Given the description of an element on the screen output the (x, y) to click on. 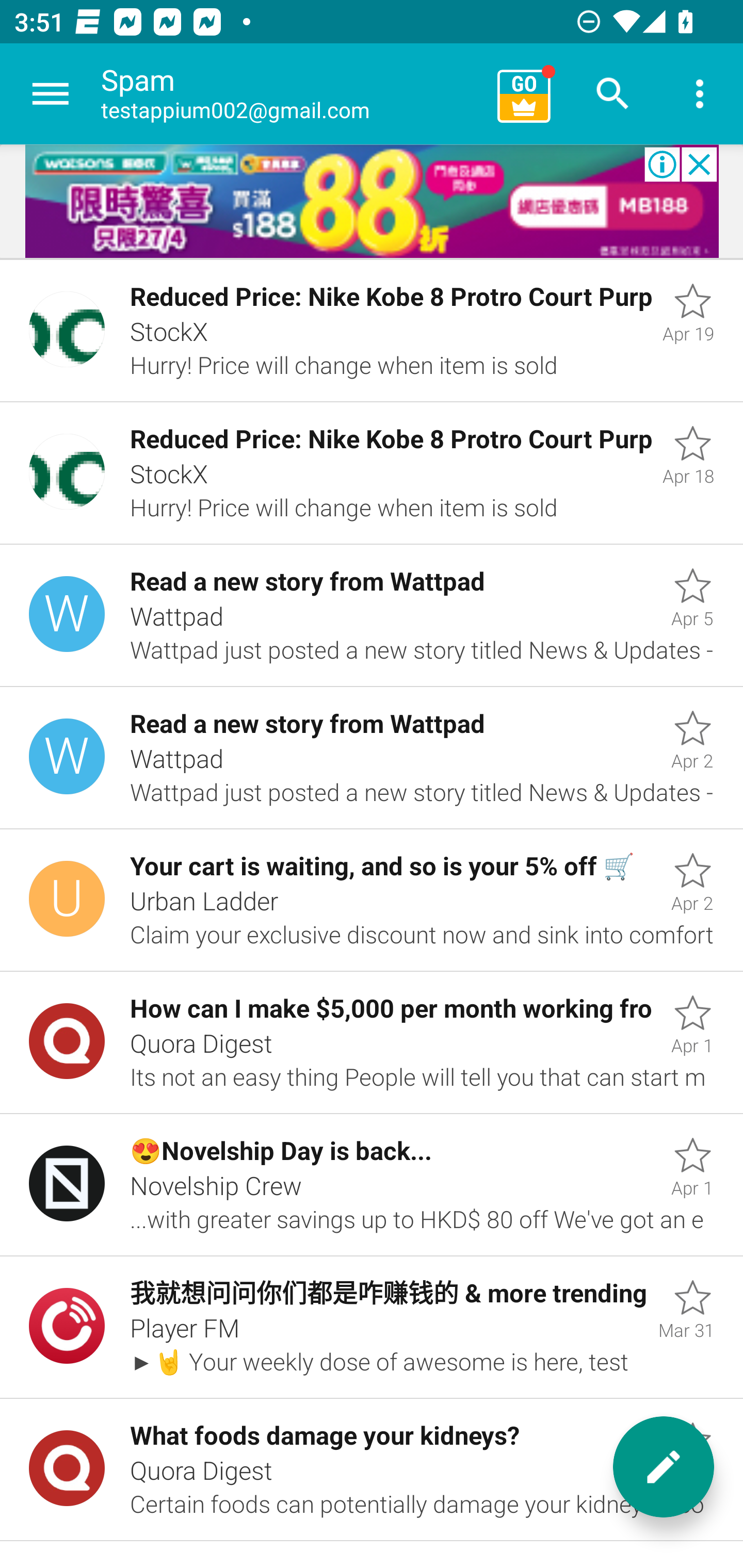
Navigate up (50, 93)
Spam testappium002@gmail.com (291, 93)
Search (612, 93)
More options (699, 93)
New message (663, 1466)
